Given the description of an element on the screen output the (x, y) to click on. 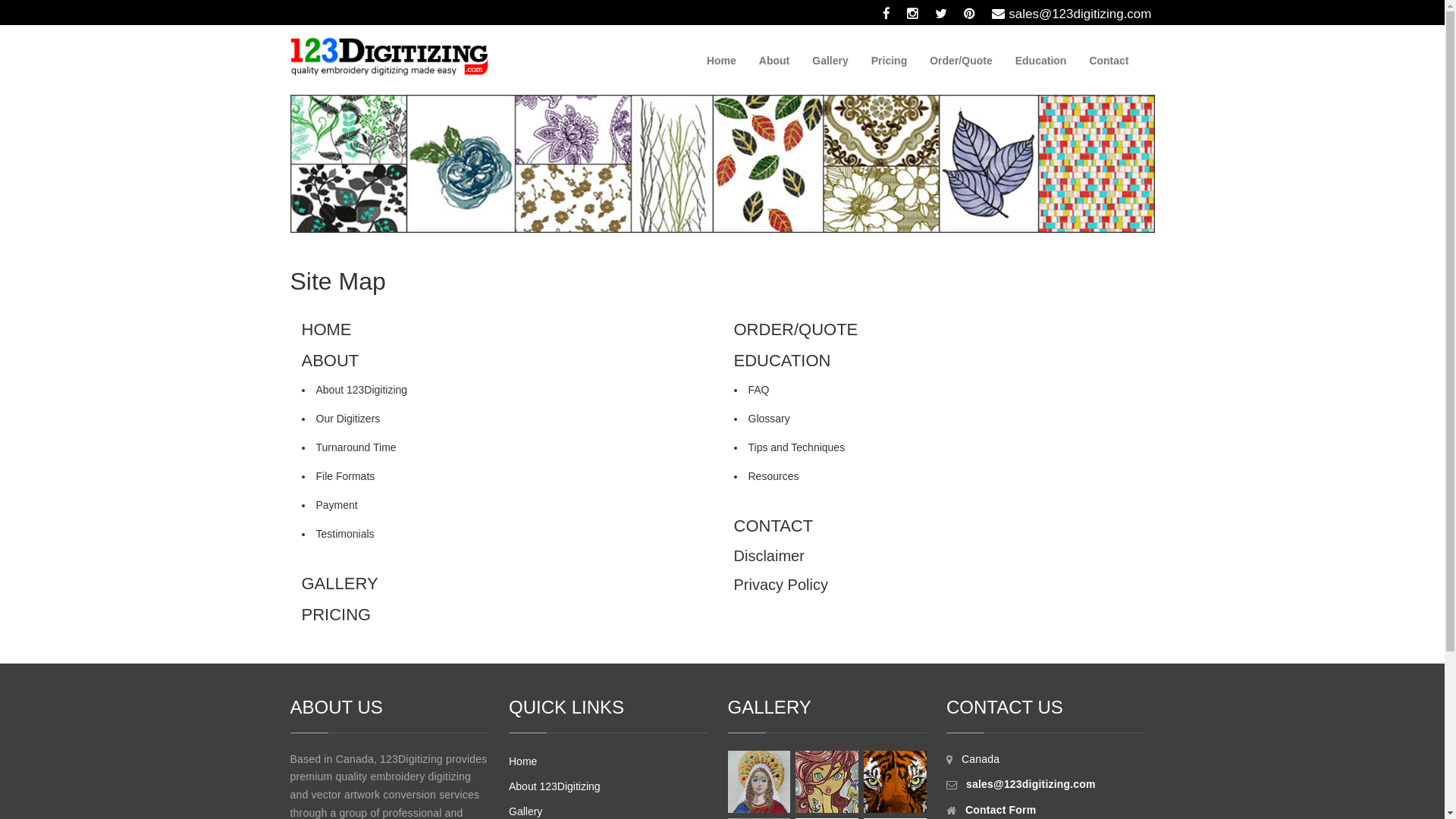
ORDER/QUOTE Element type: text (796, 329)
GALLERY Element type: text (339, 583)
File Formats Element type: text (344, 476)
HOME Element type: text (326, 329)
Gallery Element type: text (525, 811)
Privacy Policy Element type: text (781, 584)
Pricing Element type: text (888, 59)
FAQ Element type: text (757, 389)
sales@123digitizing.com Element type: text (1030, 784)
Testimonials Element type: text (344, 533)
Contact Element type: text (1108, 59)
CONTACT Element type: text (773, 525)
Contact Form Element type: text (1000, 809)
Turnaround Time Element type: text (355, 447)
Our Digitizers Element type: text (347, 418)
About Element type: text (773, 59)
Education Element type: text (1041, 59)
PRICING Element type: text (336, 614)
Gallery Element type: text (829, 59)
Disclaimer Element type: text (769, 555)
Home Element type: text (721, 59)
Order/Quote Element type: text (960, 59)
About 123Digitizing Element type: text (554, 786)
Resources Element type: text (772, 476)
Glossary Element type: text (768, 418)
Home Element type: text (522, 761)
Payment Element type: text (336, 504)
About 123Digitizing Element type: text (361, 389)
Tips and Techniques Element type: text (795, 447)
sales@123digitizing.com Element type: text (1071, 13)
